Given the description of an element on the screen output the (x, y) to click on. 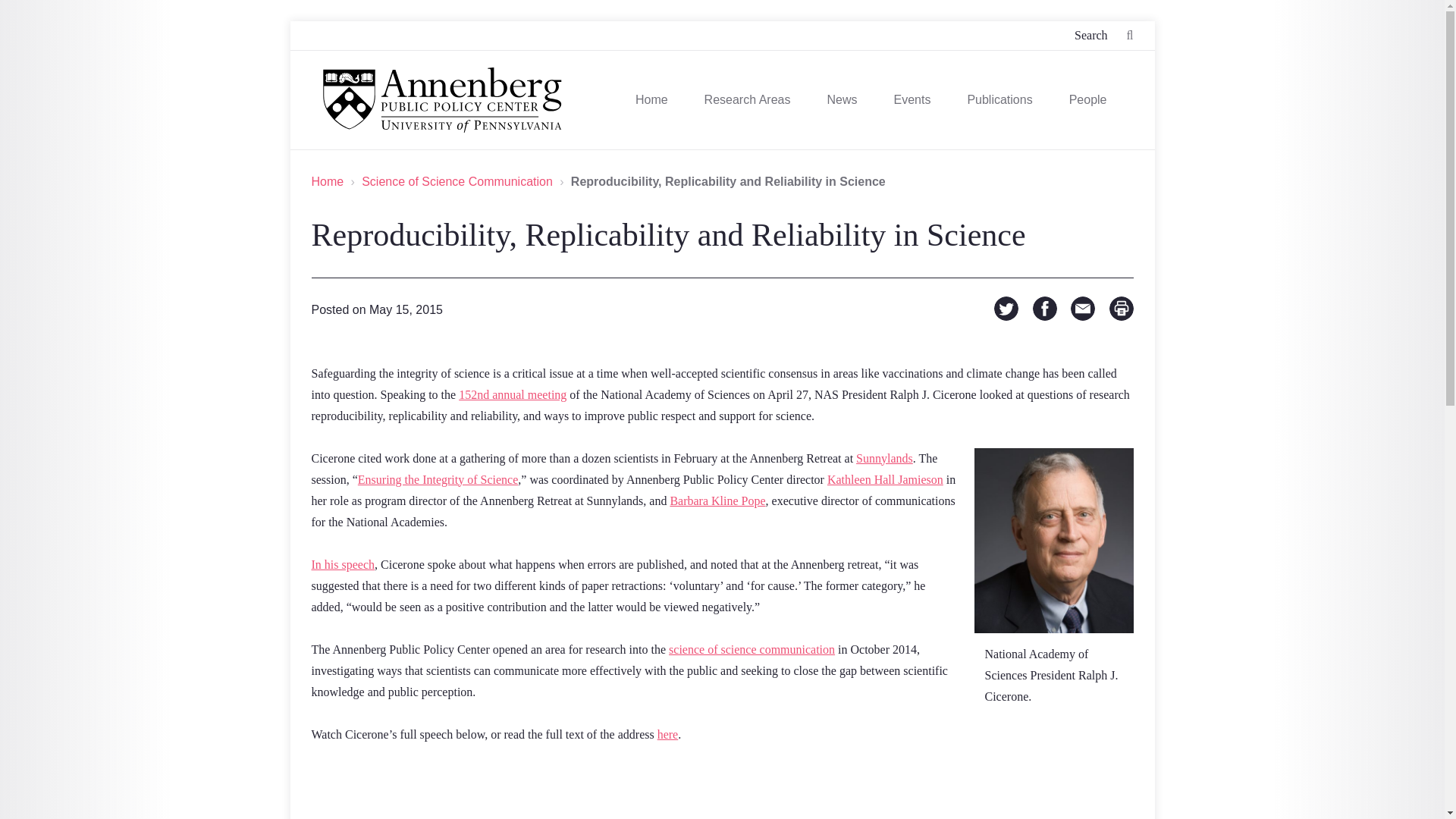
Publications (999, 100)
People (1087, 100)
Events (911, 100)
Research Areas (747, 100)
News (842, 100)
News (842, 100)
Home (651, 100)
